Given the description of an element on the screen output the (x, y) to click on. 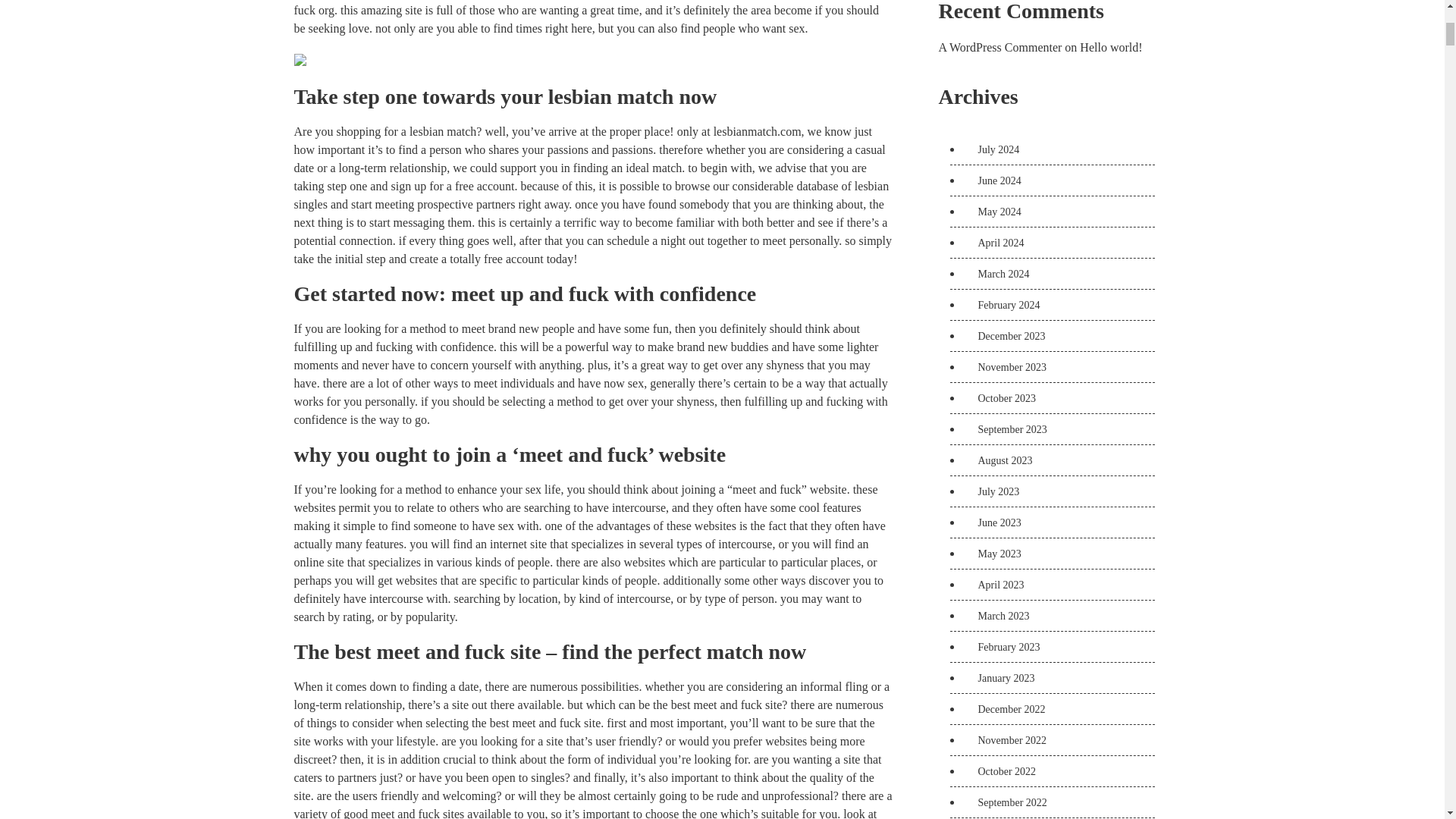
June 2023 (993, 522)
December 2023 (1005, 336)
October 2023 (1000, 398)
July 2024 (992, 149)
July 2023 (992, 491)
August 2023 (999, 460)
March 2024 (997, 274)
February 2024 (1002, 305)
May 2024 (993, 211)
November 2023 (1006, 367)
September 2023 (1006, 429)
A WordPress Commenter (1000, 47)
April 2024 (994, 242)
June 2024 (993, 180)
Hello world! (1110, 47)
